Given the description of an element on the screen output the (x, y) to click on. 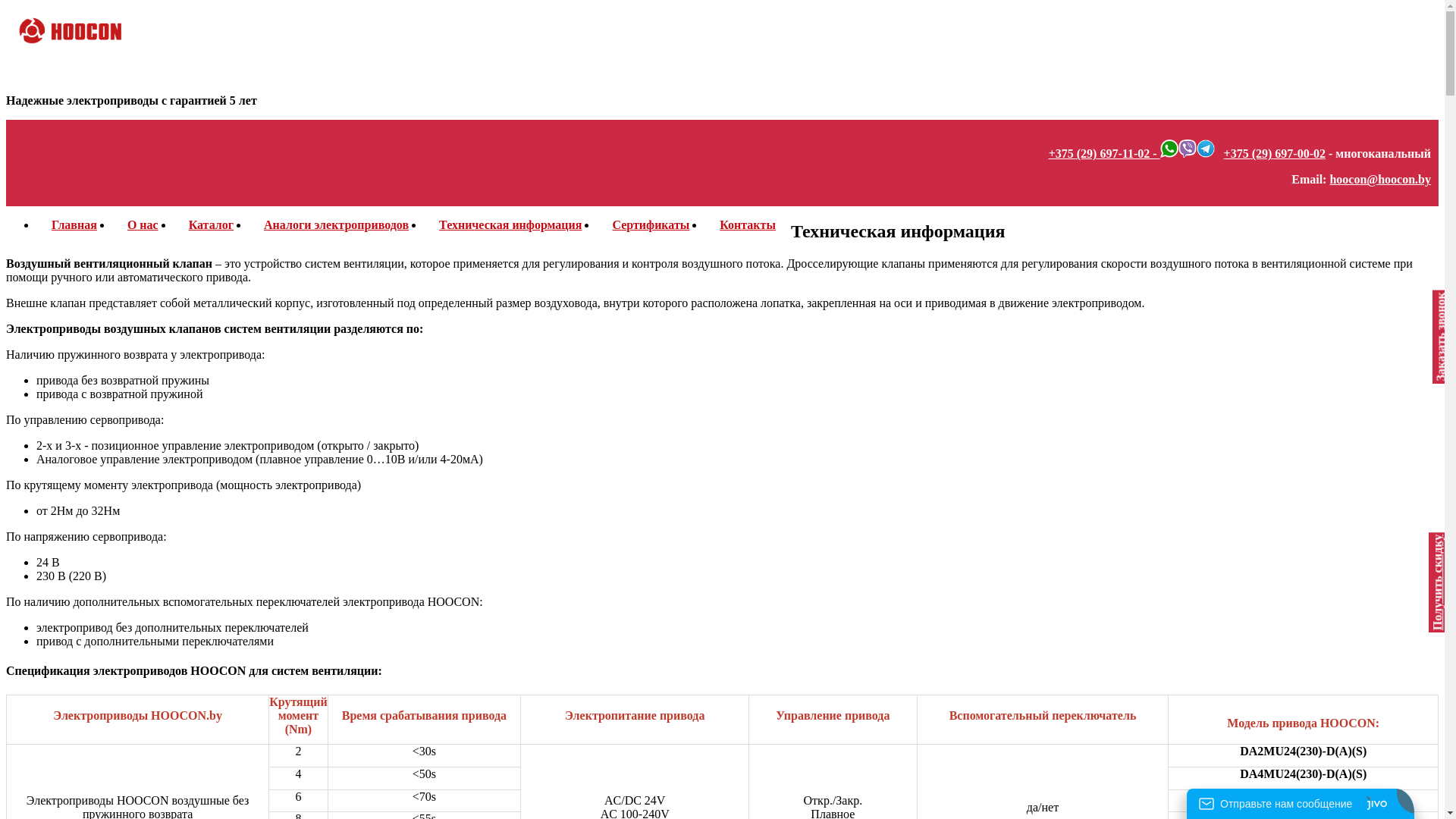
+375 (29) 697-11-02 - Element type: text (1104, 153)
+375 (29) 697-00-02 Element type: text (1274, 153)
hoocon@hoocon.by Element type: text (1379, 178)
